Given the description of an element on the screen output the (x, y) to click on. 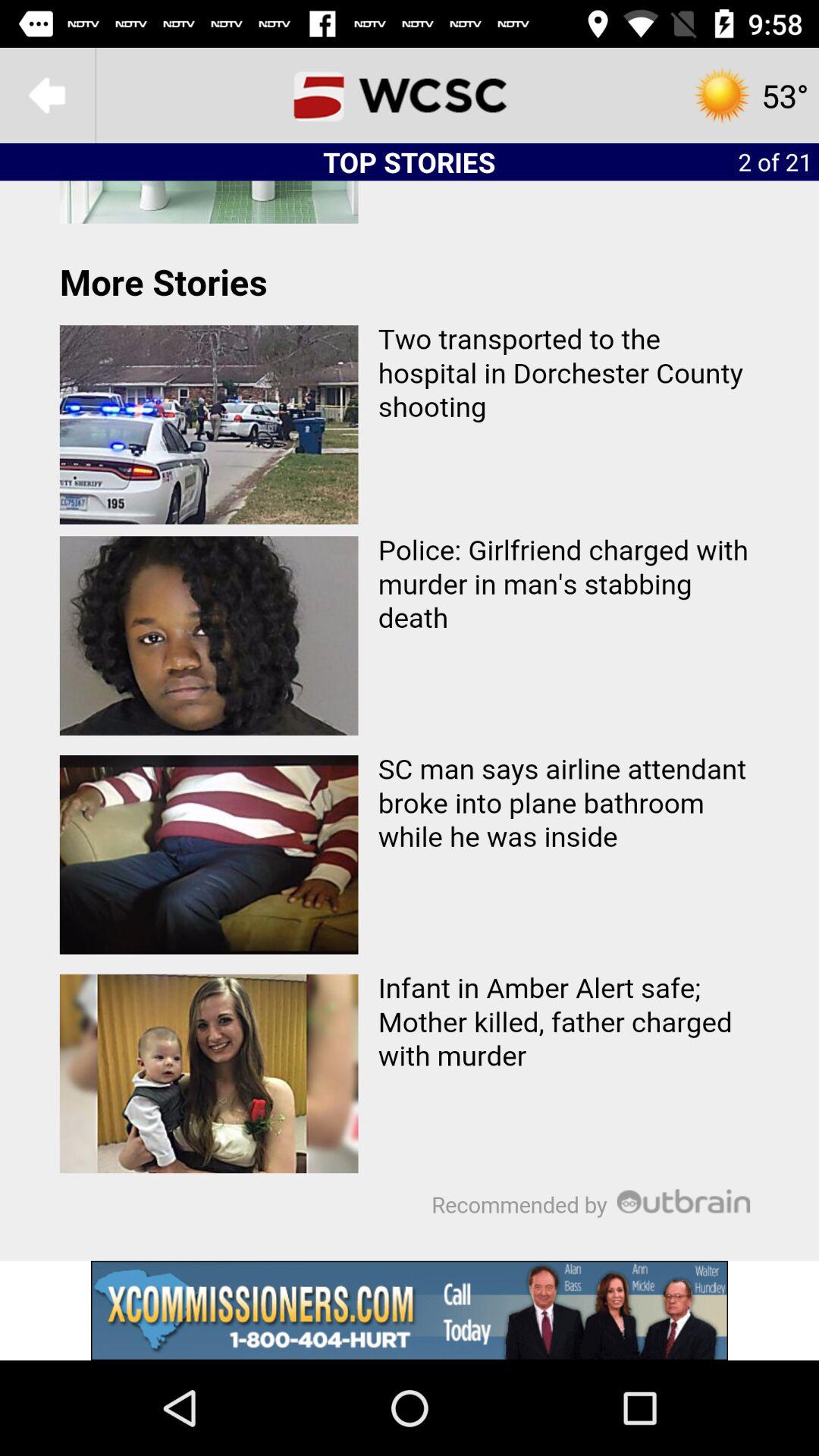
select the item next to the 2 of 21 item (409, 95)
